Given the description of an element on the screen output the (x, y) to click on. 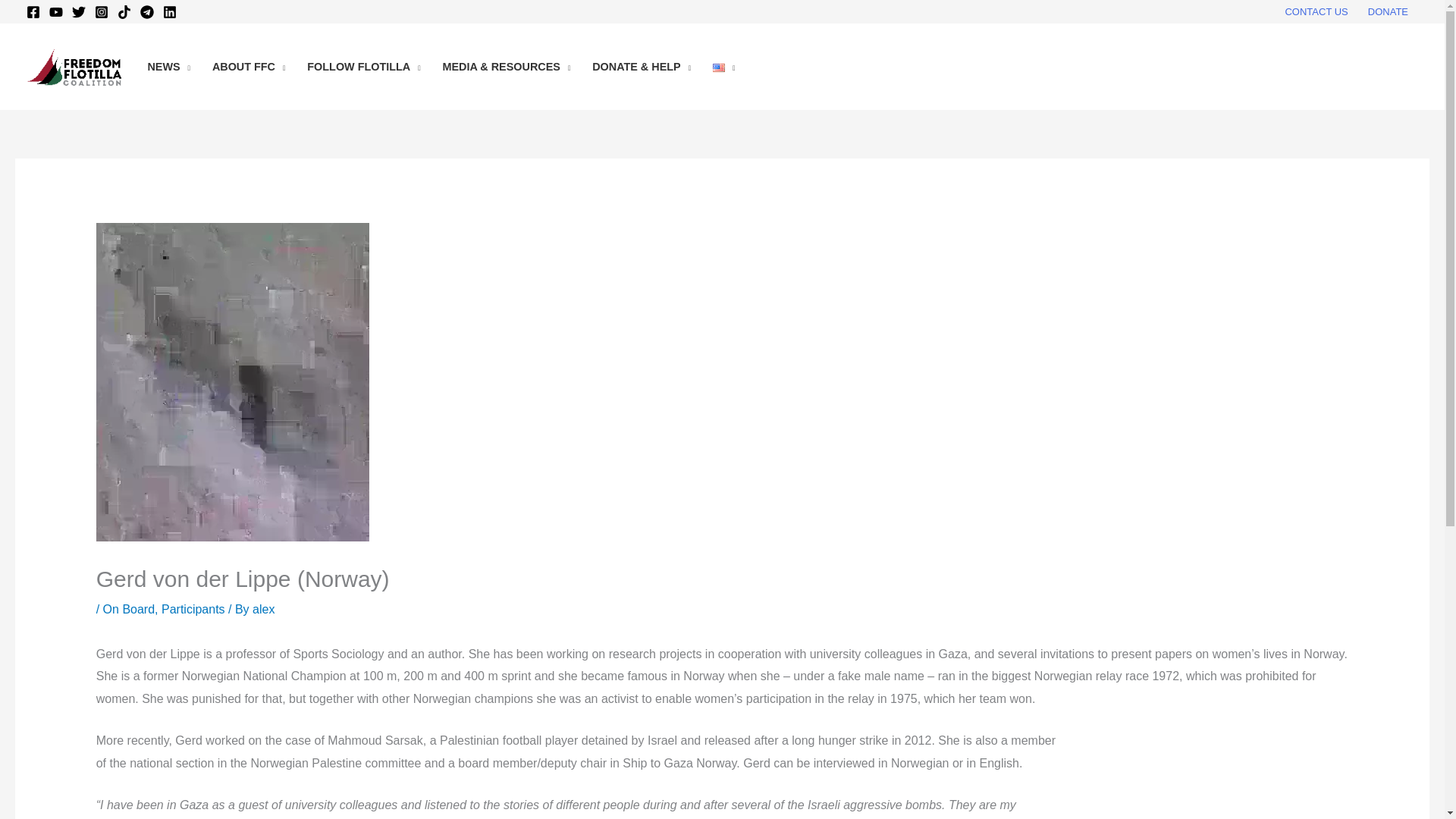
FOLLOW FLOTILLA (363, 66)
CONTACT US (1315, 11)
View all posts by alex (263, 608)
DONATE (1388, 11)
Gerd von der Lippe (1211, 774)
NEWS (168, 66)
ABOUT FFC (247, 66)
